Given the description of an element on the screen output the (x, y) to click on. 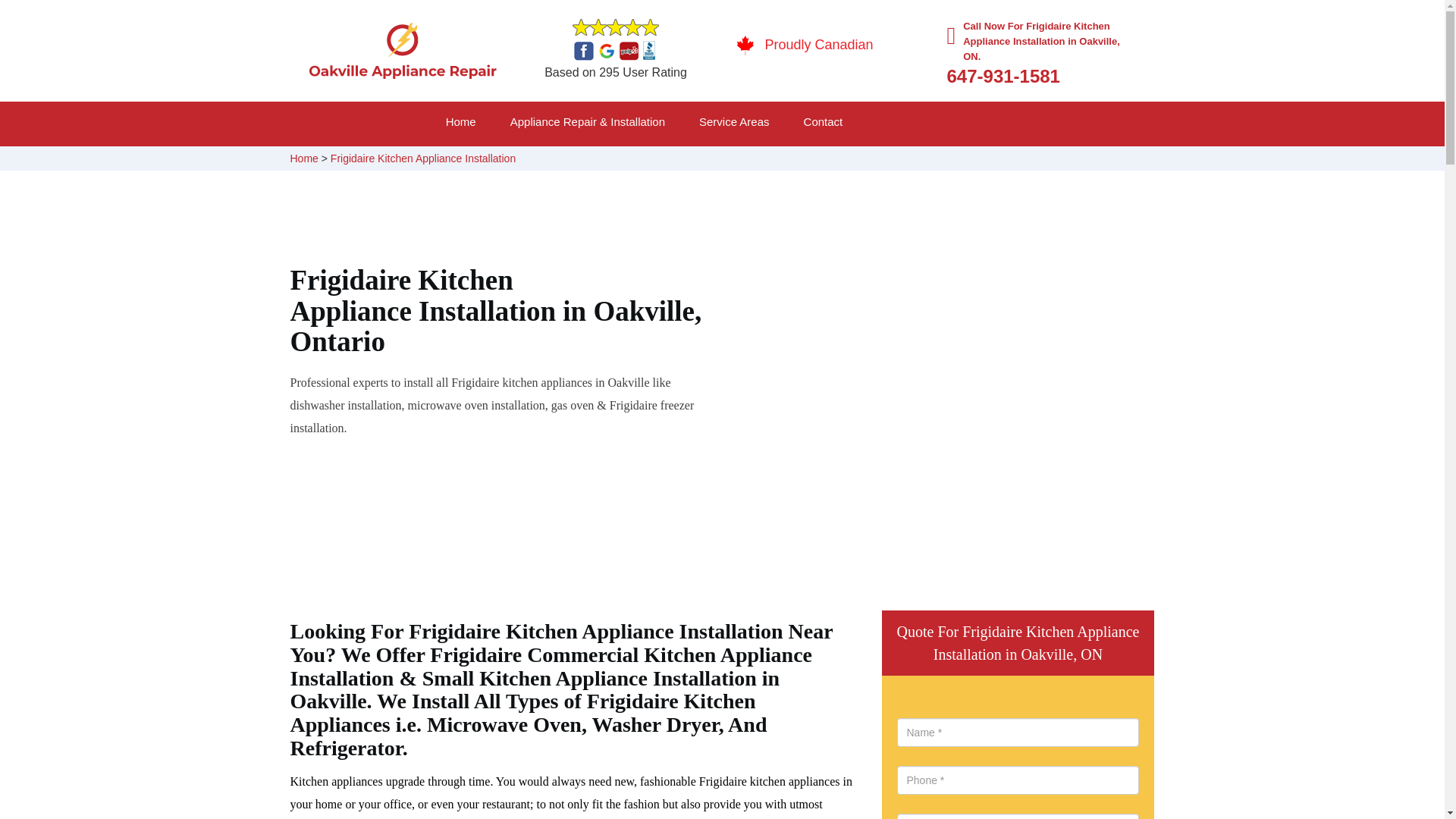
Gas Stove Repair (783, 160)
Contact (840, 123)
Range Installation (1008, 160)
Home (303, 158)
Kitchen Appliances Repair (578, 160)
Freezer Installation (1010, 160)
Washing Machine Installation (804, 160)
Range Repair (552, 160)
Residential Appliance Repair (595, 160)
Microwave Repair (788, 160)
